Given the description of an element on the screen output the (x, y) to click on. 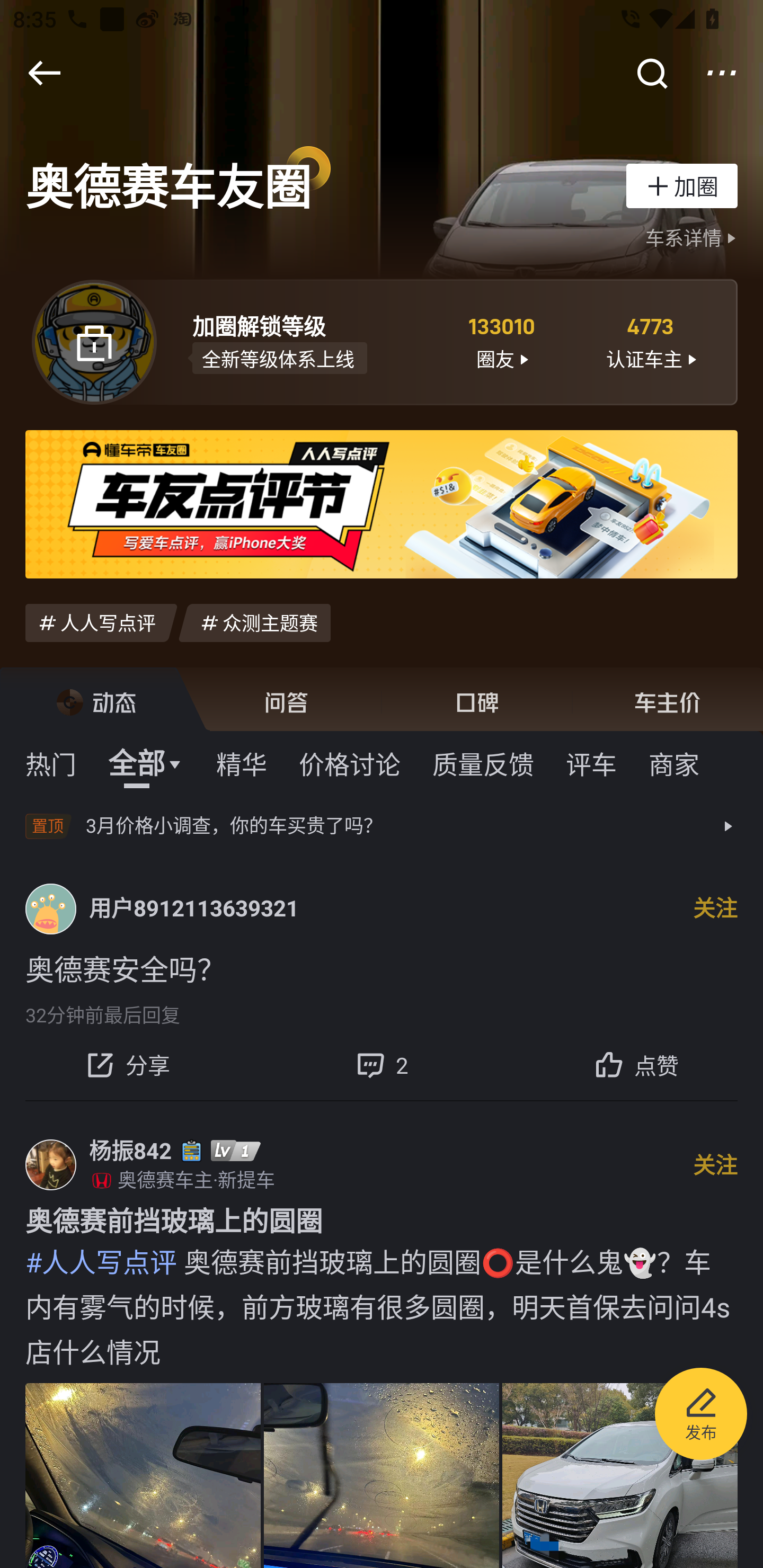
 (44, 72)
 (651, 72)
 (721, 72)
车系详情 (692, 238)
加圈解锁等级 全新等级体系上线 (307, 341)
133010 圈友 (501, 341)
4773 认证车主 (650, 341)
 人人写点评 (101, 622)
 众测主题赛 (253, 622)
热门 (50, 762)
全部  (146, 762)
精华 (241, 762)
价格讨论 (349, 762)
质量反馈 (483, 762)
评车 (591, 762)
商家 (673, 762)
置顶 3月价格小调查，你的车买贵了吗？  (381, 825)
关注 (714, 908)
用户8912113639321 (194, 909)
奥德赛安全吗？ (381, 968)
 分享 (127, 1065)
 2 (381, 1065)
点赞 (635, 1065)
杨振842 (130, 1150)
关注 (714, 1164)
 发布 (701, 1416)
